Given the description of an element on the screen output the (x, y) to click on. 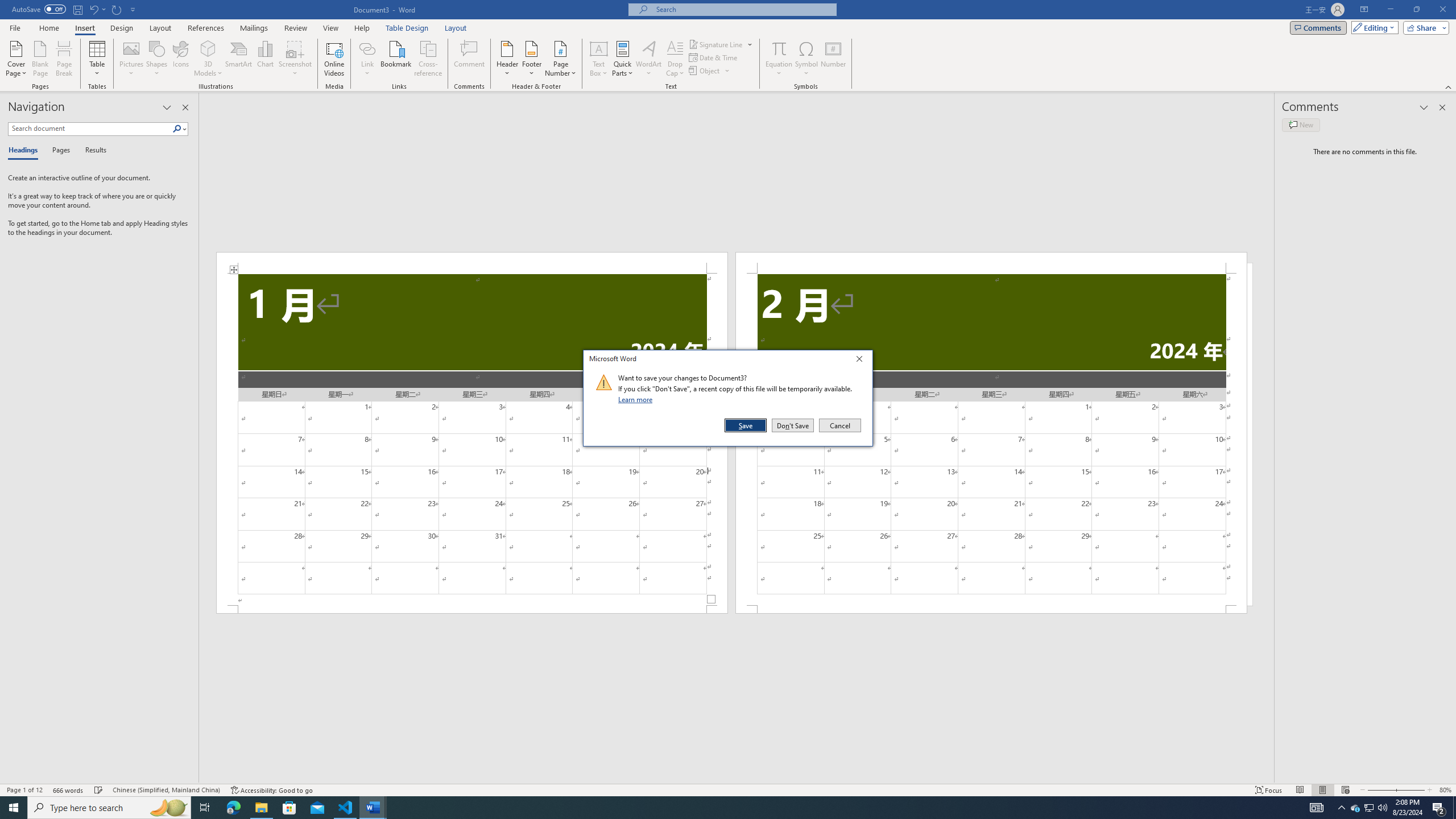
Object... (705, 69)
Pages (59, 150)
Link (367, 58)
Symbol (806, 58)
Q2790: 100% (1382, 807)
Word Count 666 words (68, 790)
Blank Page (40, 58)
Class: NetUIScrollBar (736, 778)
Word - 2 running windows (373, 807)
Language Chinese (Simplified, Mainland China) (165, 790)
Spelling and Grammar Check Checking (98, 790)
Search (177, 128)
Footer -Section 1- (471, 609)
Header -Section 2- (991, 263)
